Given the description of an element on the screen output the (x, y) to click on. 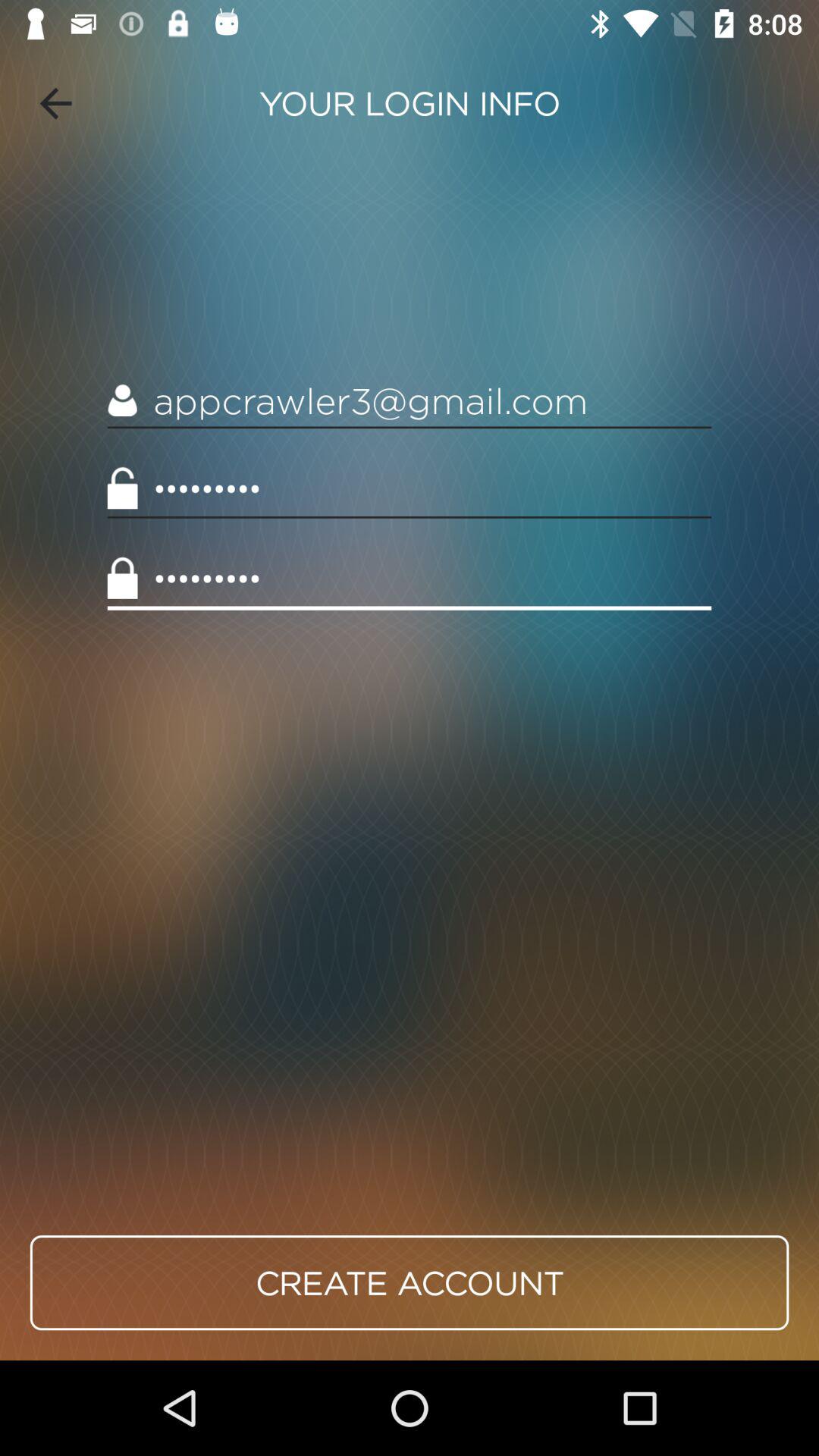
jump to appcrawler3@gmail.com icon (409, 401)
